Given the description of an element on the screen output the (x, y) to click on. 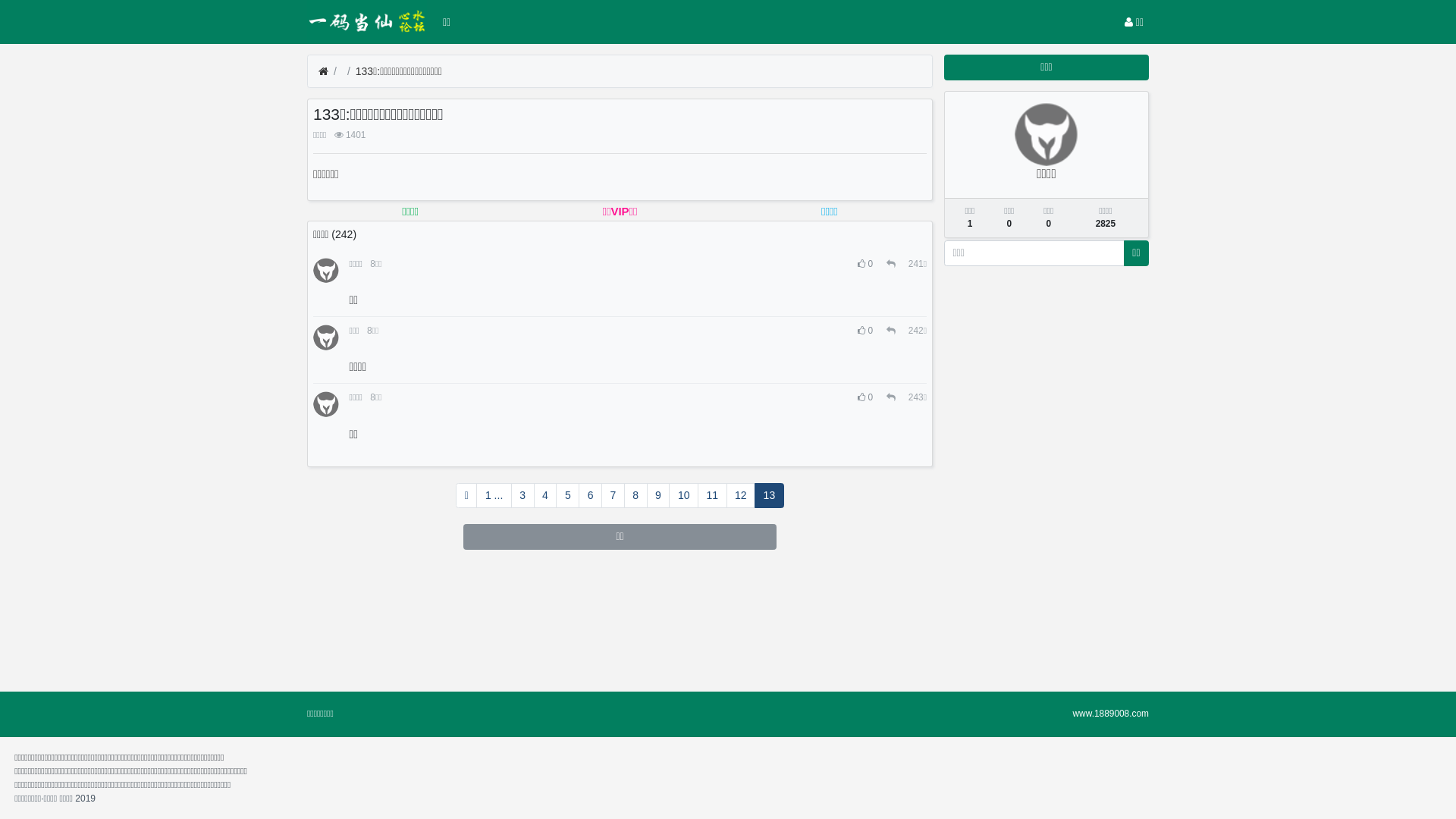
5 Element type: text (567, 495)
10 Element type: text (683, 495)
9 Element type: text (658, 495)
12 Element type: text (741, 495)
8 Element type: text (635, 495)
6 Element type: text (590, 495)
13 Element type: text (769, 495)
0 Element type: text (866, 330)
7 Element type: text (612, 495)
1 ... Element type: text (493, 495)
4 Element type: text (545, 495)
www.1889008.com Element type: text (1110, 713)
0 Element type: text (866, 263)
0 Element type: text (866, 397)
3 Element type: text (522, 495)
11 Element type: text (712, 495)
